Given the description of an element on the screen output the (x, y) to click on. 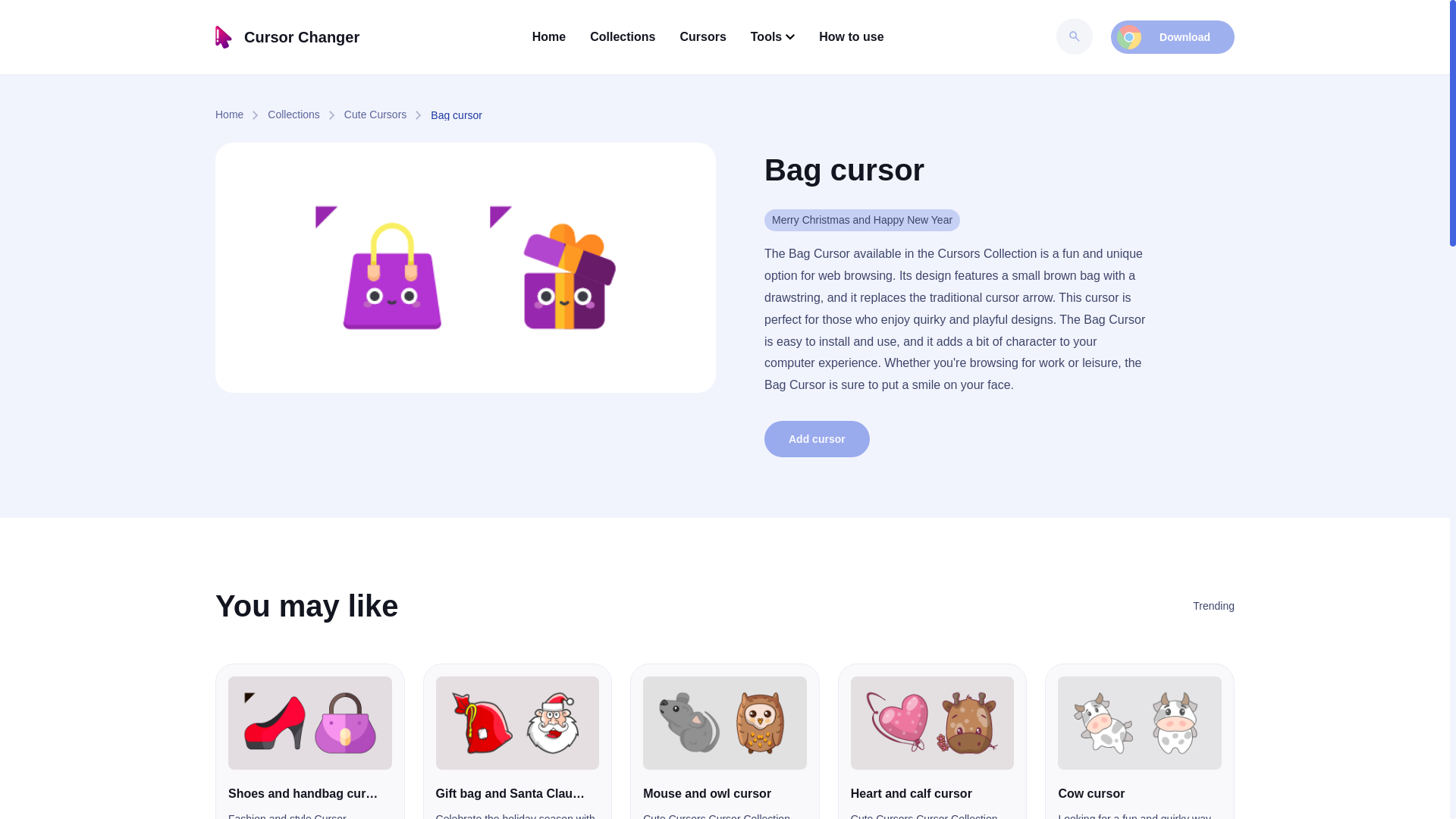
Collections (305, 114)
Home (549, 36)
Cute Cursors (386, 114)
Add cursor (816, 438)
Collections (622, 36)
Collections (305, 114)
Home (241, 114)
Cursor Changer (287, 36)
Tools (772, 37)
Cute Cursors (386, 114)
Cursors (702, 36)
How to use (850, 36)
Download (1172, 37)
Home (241, 114)
